Given the description of an element on the screen output the (x, y) to click on. 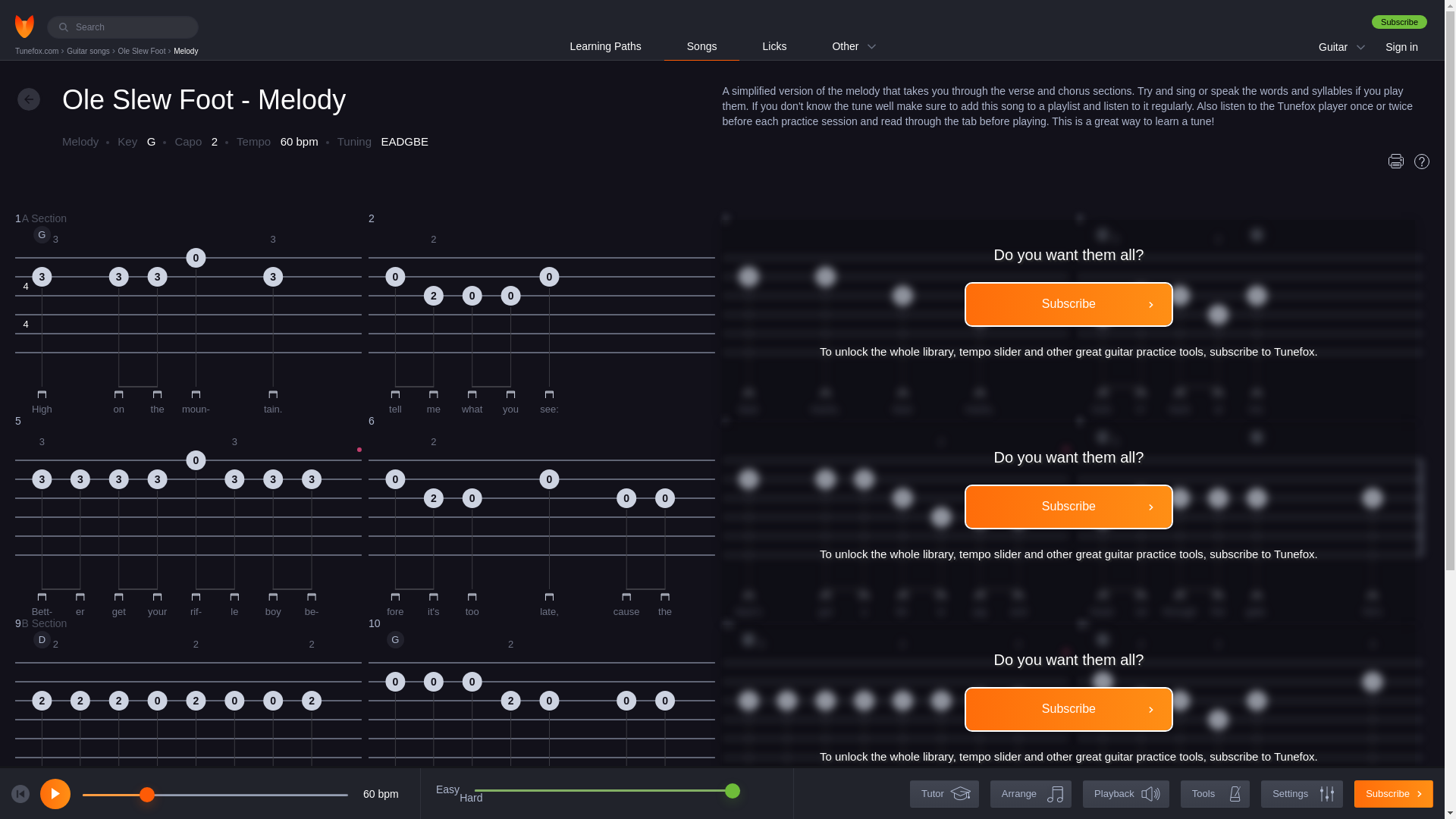
Tunefox.com (187, 311)
Subscribe (1248, 311)
Subscribe (187, 513)
Sign in to Tunefox account (541, 513)
Tunefox.com (37, 50)
Subscribe (1068, 303)
Guitar songs (1248, 513)
